Given the description of an element on the screen output the (x, y) to click on. 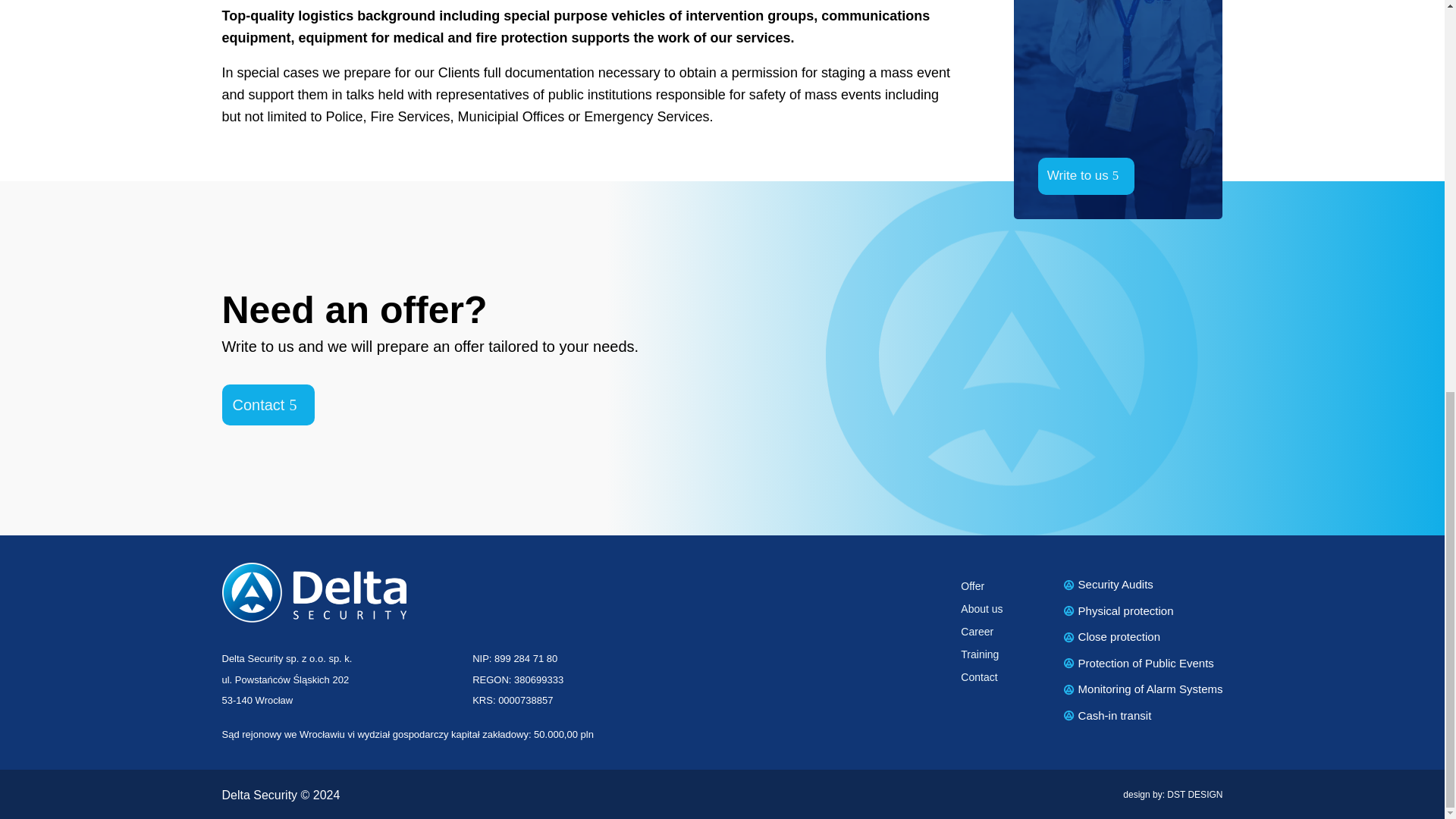
logo (313, 592)
